Given the description of an element on the screen output the (x, y) to click on. 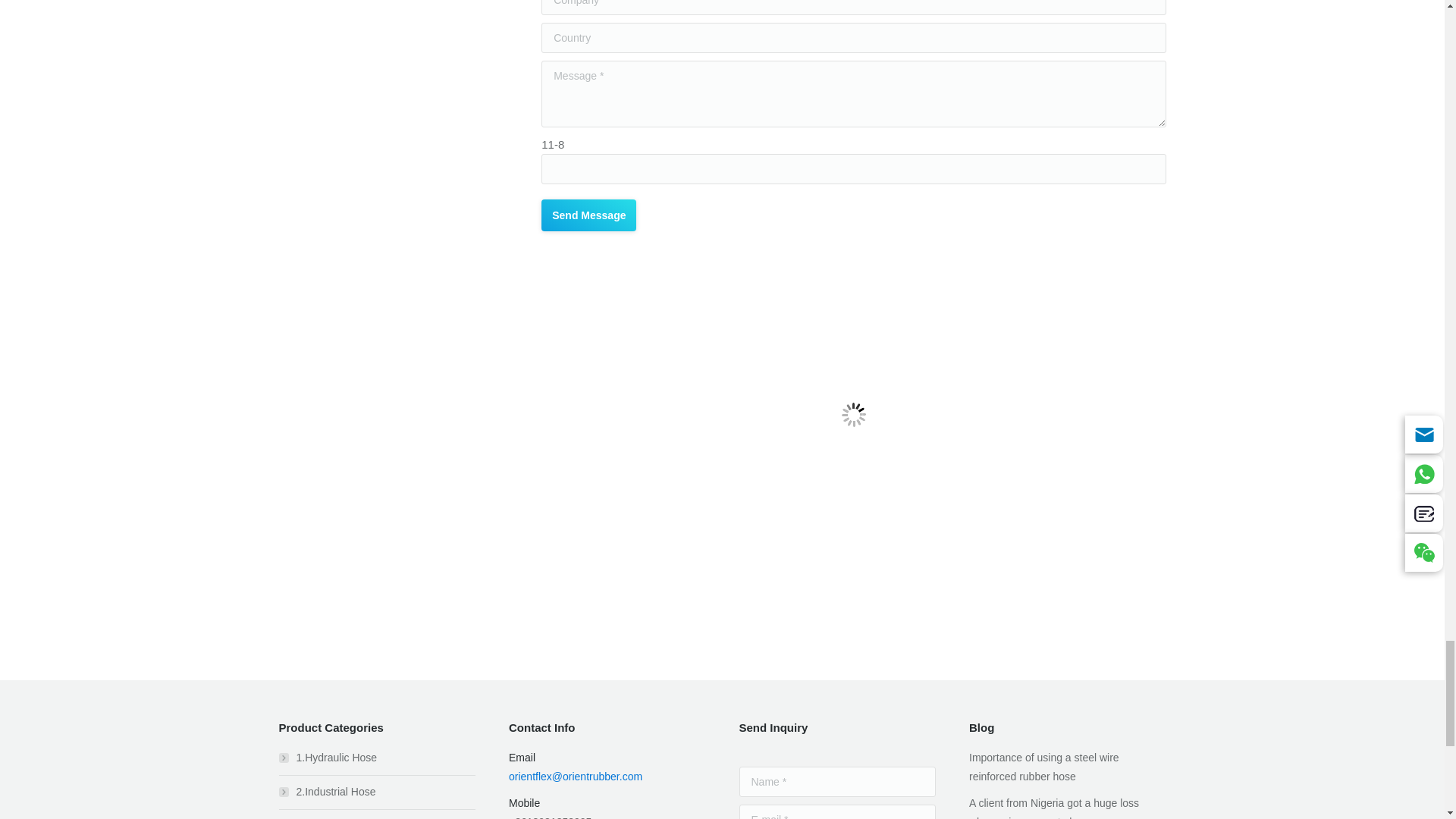
Send Message (588, 214)
